Given the description of an element on the screen output the (x, y) to click on. 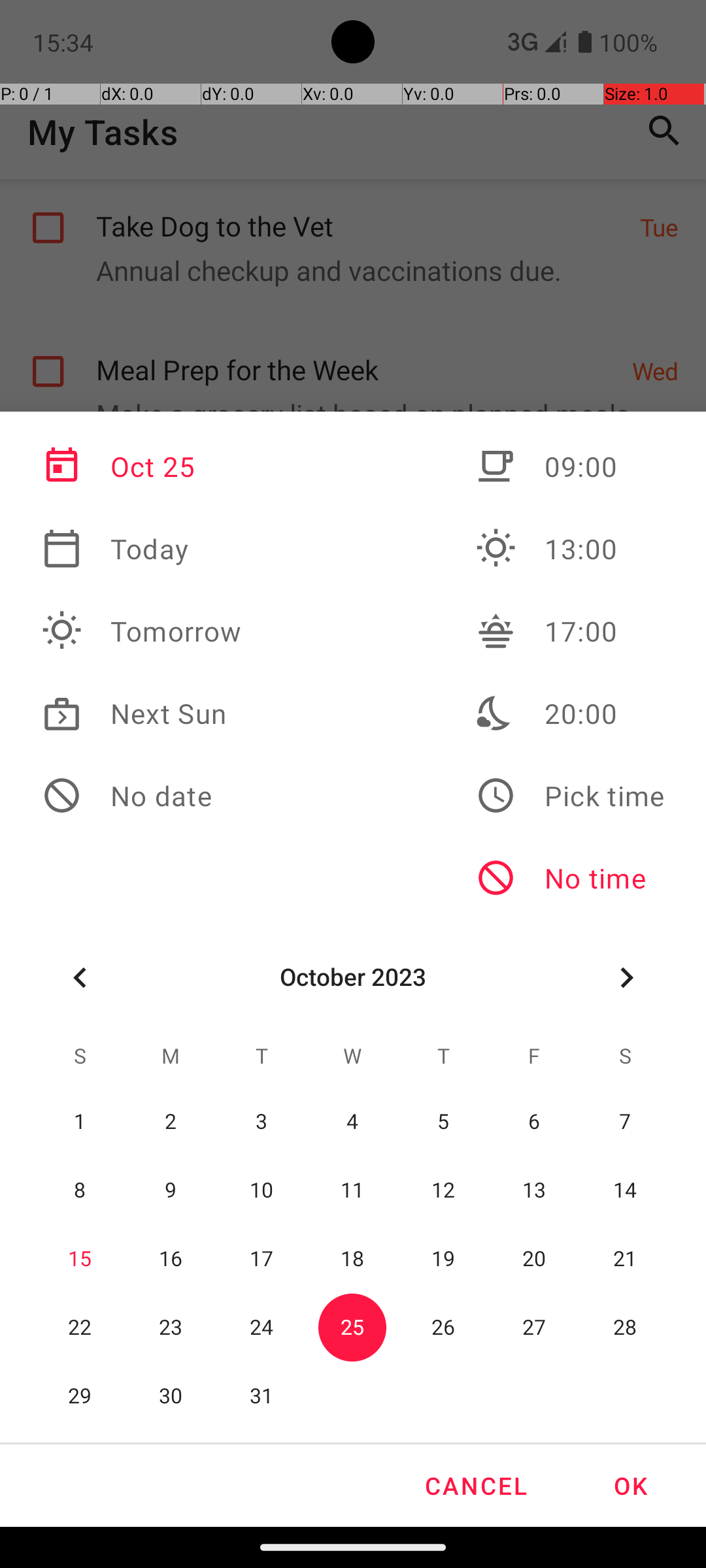
Oct 25 Element type: android.widget.CompoundButton (141, 466)
Tomorrow Element type: android.widget.CompoundButton (141, 630)
Next Sun Element type: android.widget.CompoundButton (141, 713)
No date Element type: android.widget.CompoundButton (141, 795)
20:00 Element type: android.widget.CompoundButton (569, 713)
No time Element type: android.widget.CompoundButton (569, 877)
